Given the description of an element on the screen output the (x, y) to click on. 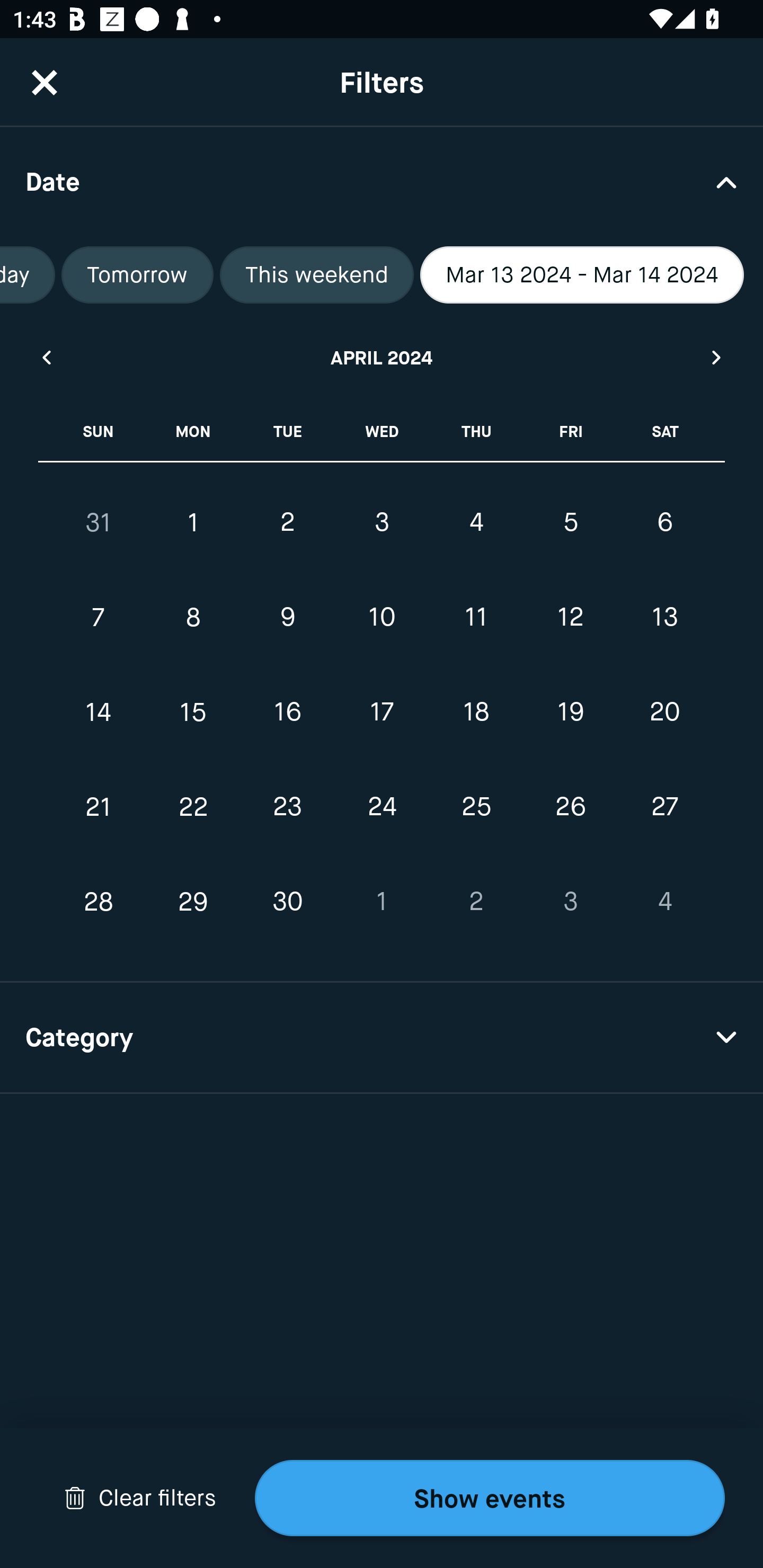
CloseButton (44, 82)
Date Drop Down Arrow (381, 181)
Tomorrow (137, 274)
This weekend (316, 274)
Mar 13 2024 - Mar 14 2024 (581, 274)
Previous (45, 357)
Next (717, 357)
31 (98, 522)
1 (192, 522)
2 (287, 522)
3 (381, 522)
4 (475, 522)
5 (570, 522)
6 (664, 522)
7 (98, 617)
8 (192, 617)
9 (287, 617)
10 (381, 617)
11 (475, 617)
12 (570, 617)
13 (664, 617)
14 (98, 711)
15 (192, 711)
16 (287, 711)
17 (381, 711)
18 (475, 711)
19 (570, 711)
20 (664, 711)
21 (98, 806)
22 (192, 806)
23 (287, 806)
24 (381, 806)
25 (475, 806)
26 (570, 806)
27 (664, 806)
28 (98, 901)
29 (192, 901)
30 (287, 901)
1 (381, 901)
2 (475, 901)
3 (570, 901)
4 (664, 901)
Category Drop Down Arrow (381, 1038)
Drop Down Arrow Clear filters (139, 1497)
Show events (489, 1497)
